Given the description of an element on the screen output the (x, y) to click on. 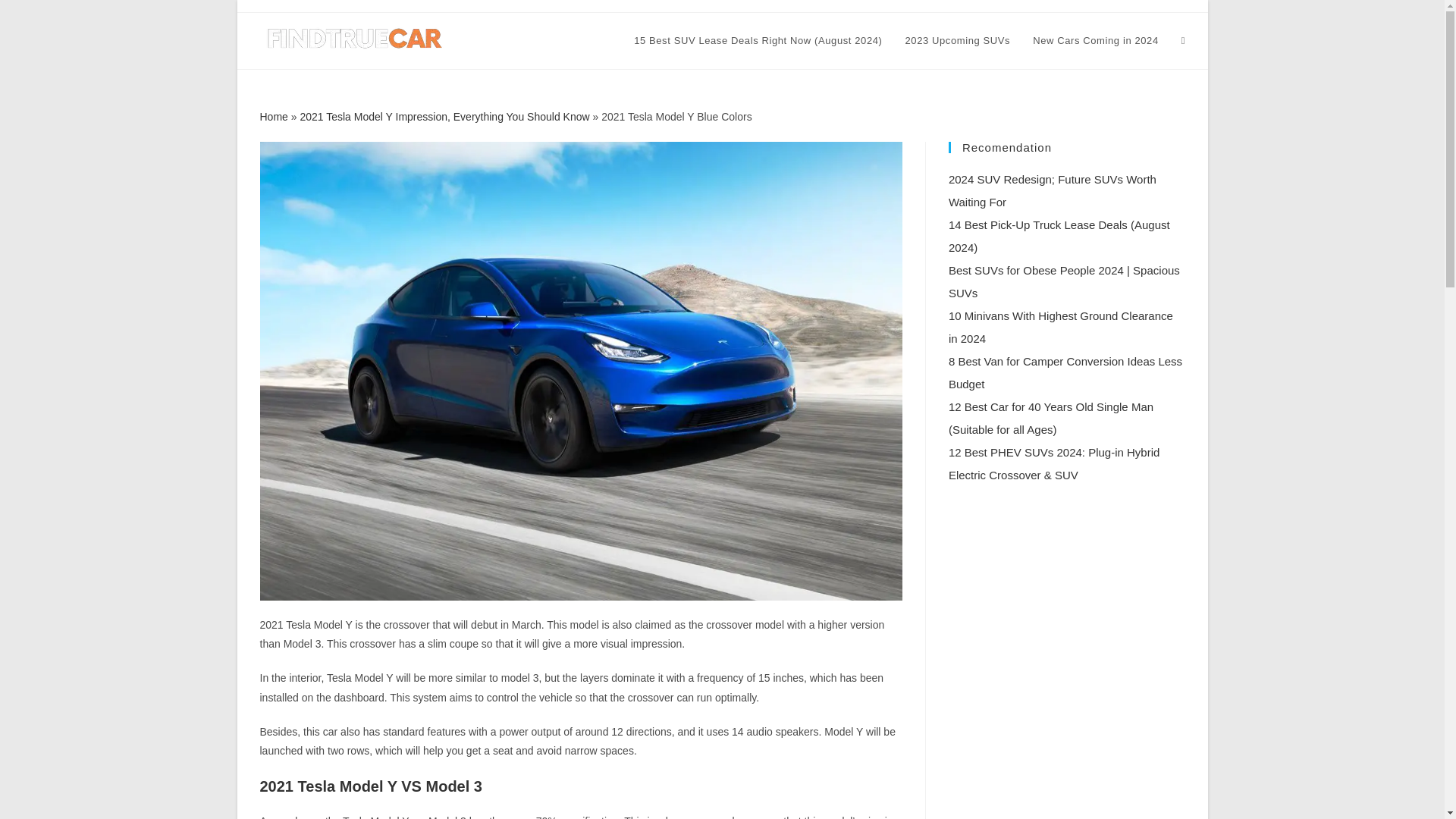
10 Minivans With Highest Ground Clearance in 2024 (1061, 326)
8 Best Van for Camper Conversion Ideas Less Budget (1065, 372)
2024 SUV Redesign; Future SUVs Worth Waiting For (1052, 190)
Home (272, 116)
New Cars Coming in 2024 (1096, 40)
2021 Tesla Model Y Impression, Everything You Should Know (444, 116)
2023 Upcoming SUVs (957, 40)
